Given the description of an element on the screen output the (x, y) to click on. 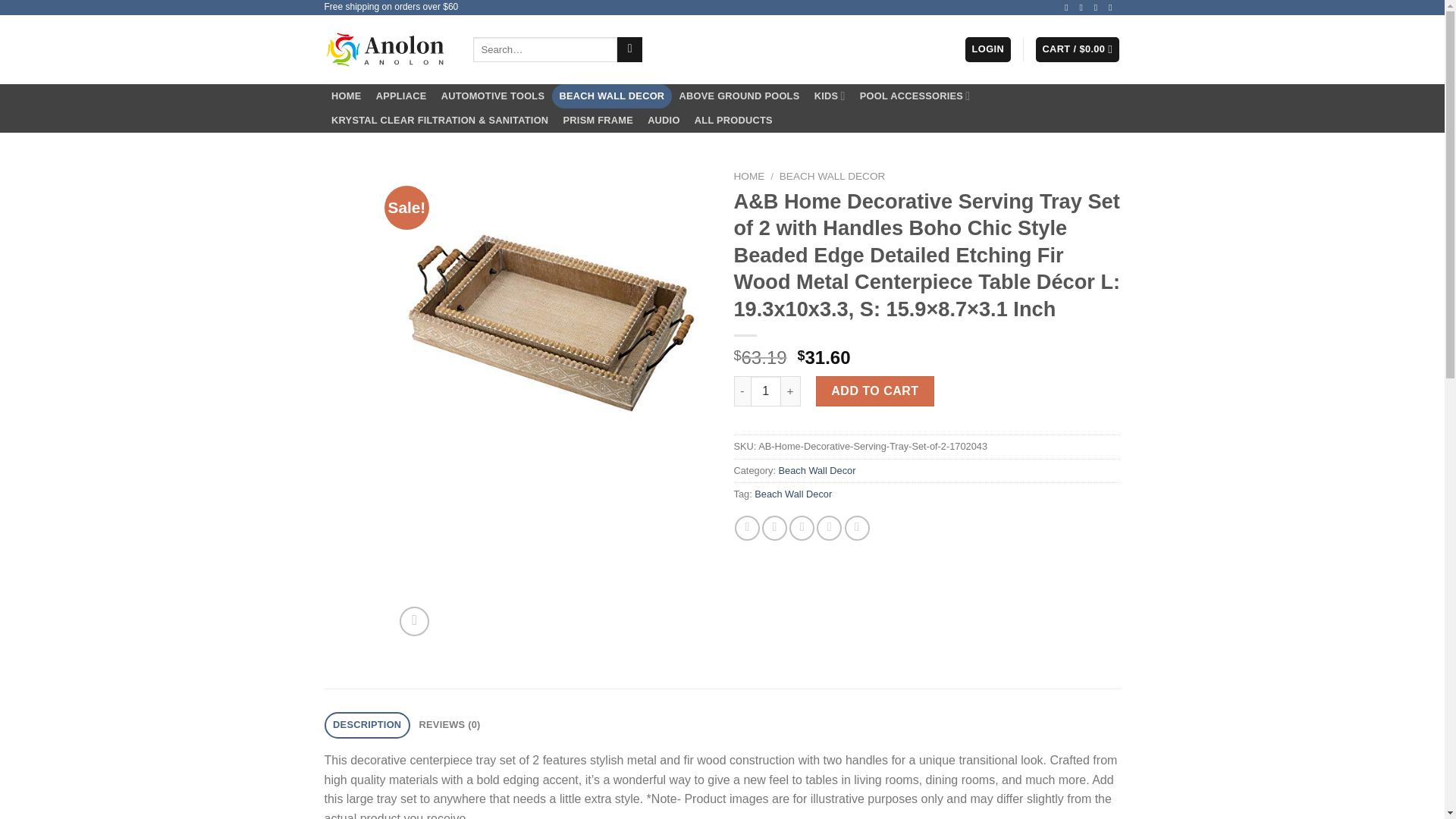
Cart (1077, 49)
HOME (346, 96)
POOL ACCESSORIES (913, 96)
ABOVE GROUND POOLS (738, 96)
LOGIN (987, 49)
GOTOHOMEDECOR (386, 49)
HOME (749, 175)
ALL PRODUCTS (732, 120)
KIDS (828, 96)
AUTOMOTIVE TOOLS (492, 96)
